Given the description of an element on the screen output the (x, y) to click on. 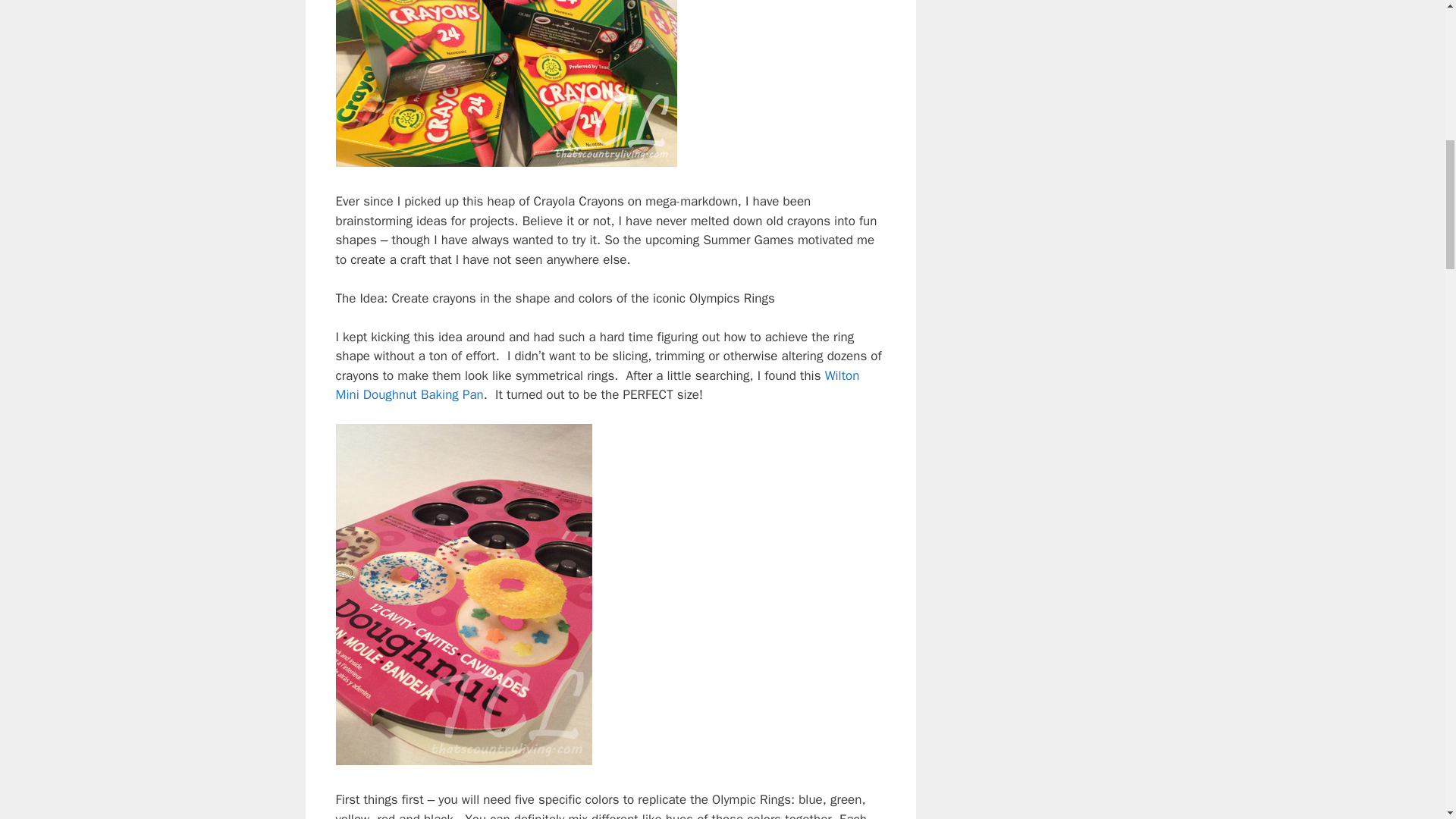
Wilton Mini Doughnut Baking Pan (596, 385)
Amazon.com (596, 385)
Boxes of Crayola Crayons TCL (505, 83)
